Given the description of an element on the screen output the (x, y) to click on. 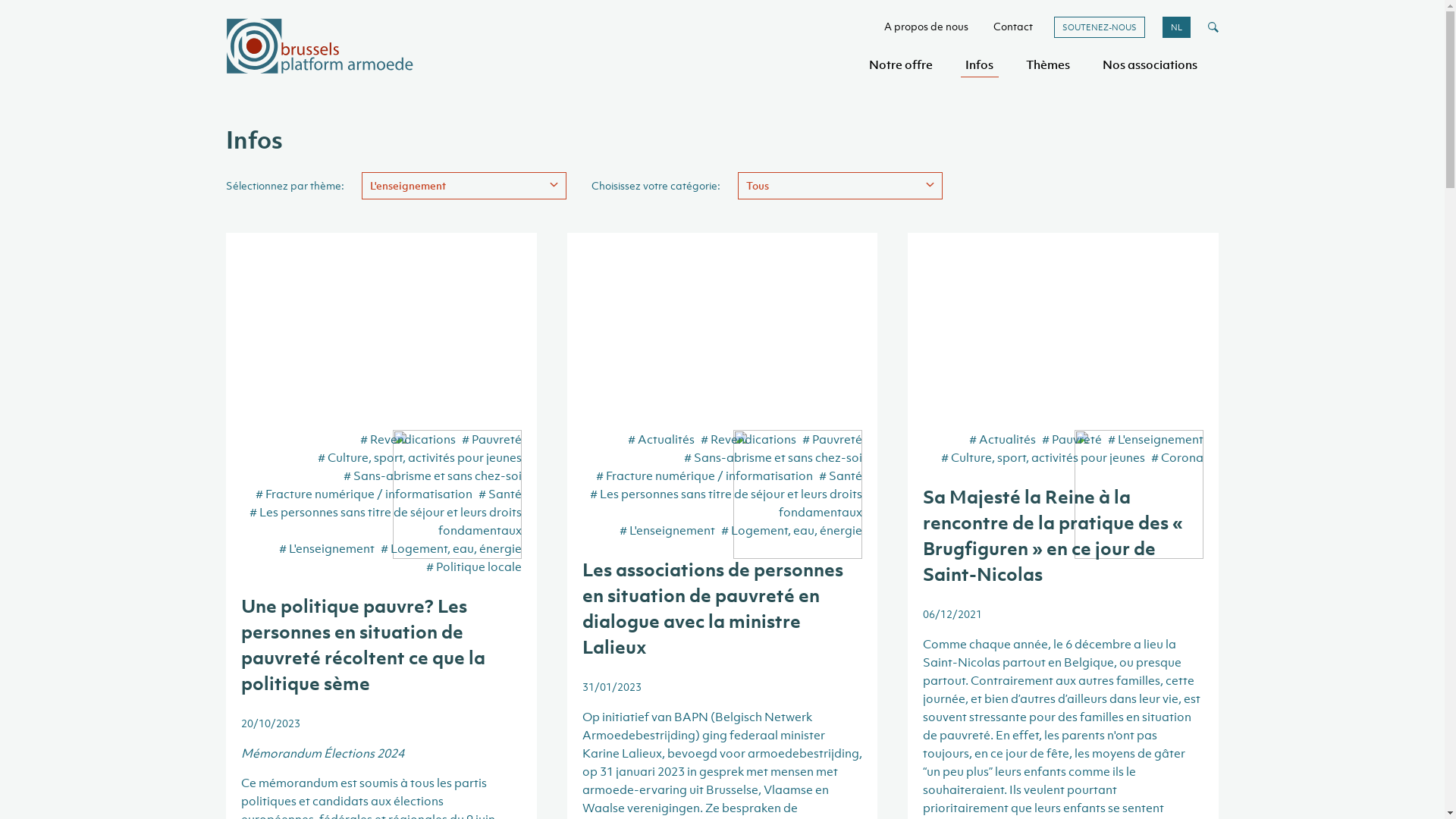
Contact Element type: text (1012, 26)
Notre offre Element type: text (900, 64)
SOUTENEZ-NOUS Element type: text (1099, 26)
Infos Element type: text (979, 64)
A propos de nous Element type: text (926, 26)
Nos associations Element type: text (1149, 64)
NL Element type: text (1176, 26)
